Given the description of an element on the screen output the (x, y) to click on. 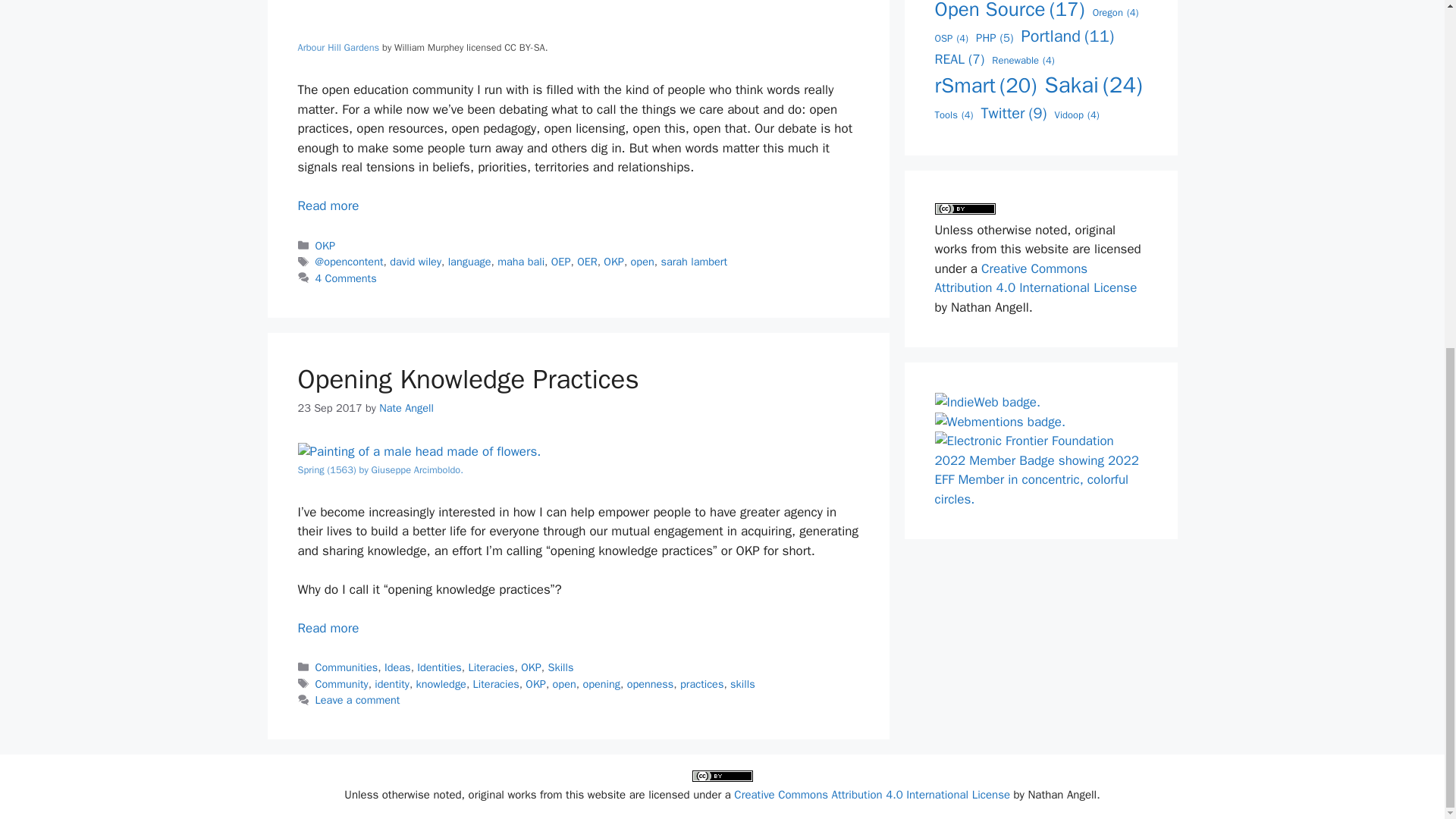
OKP (325, 245)
Nate Angell (405, 407)
Read more (327, 205)
OEP (560, 261)
language (470, 261)
Opening Knowledge Practices (468, 378)
david wiley (415, 261)
sarah lambert (693, 261)
OKP (614, 261)
maha bali (520, 261)
